Given the description of an element on the screen output the (x, y) to click on. 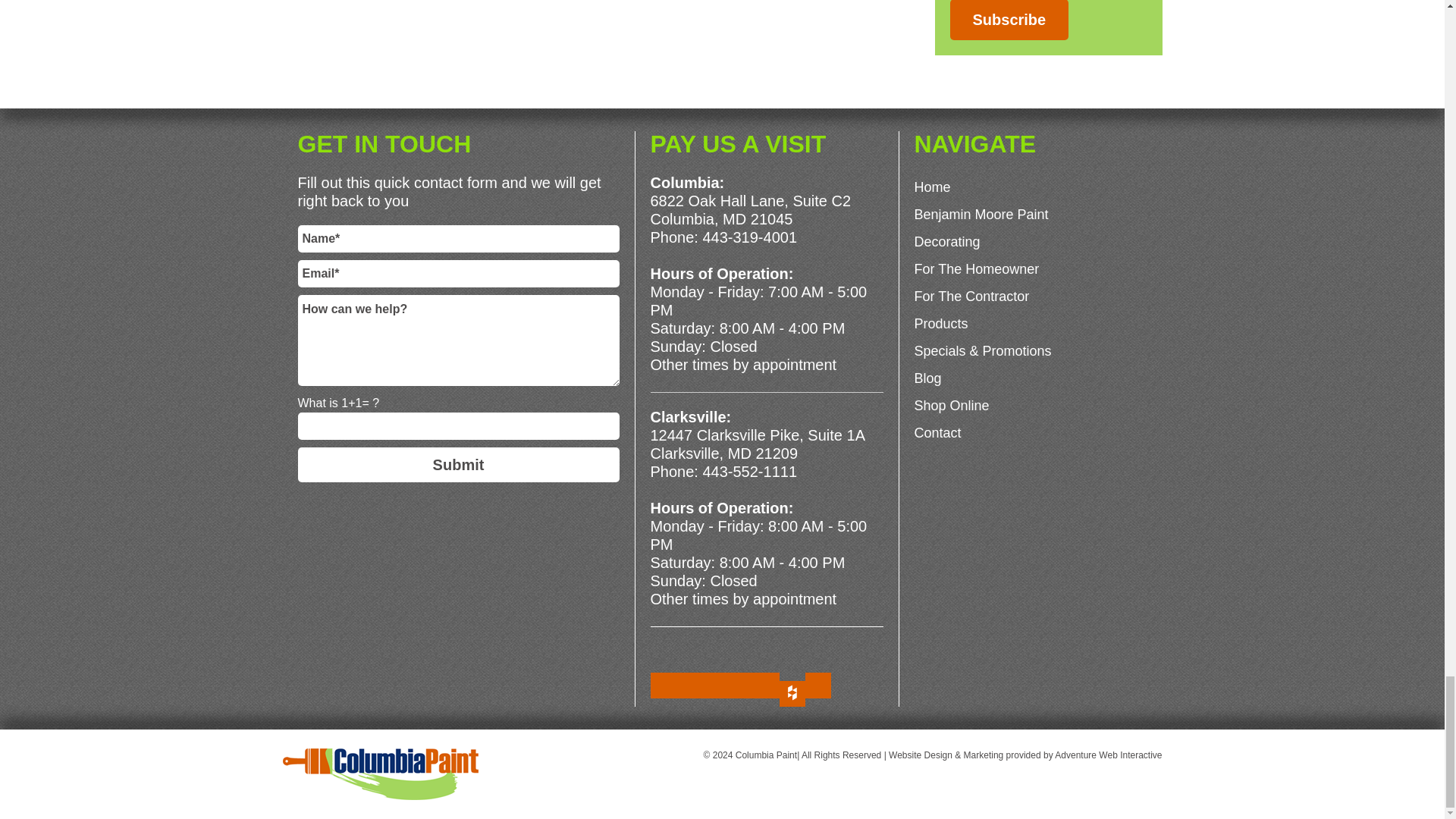
Submit (457, 464)
